Given the description of an element on the screen output the (x, y) to click on. 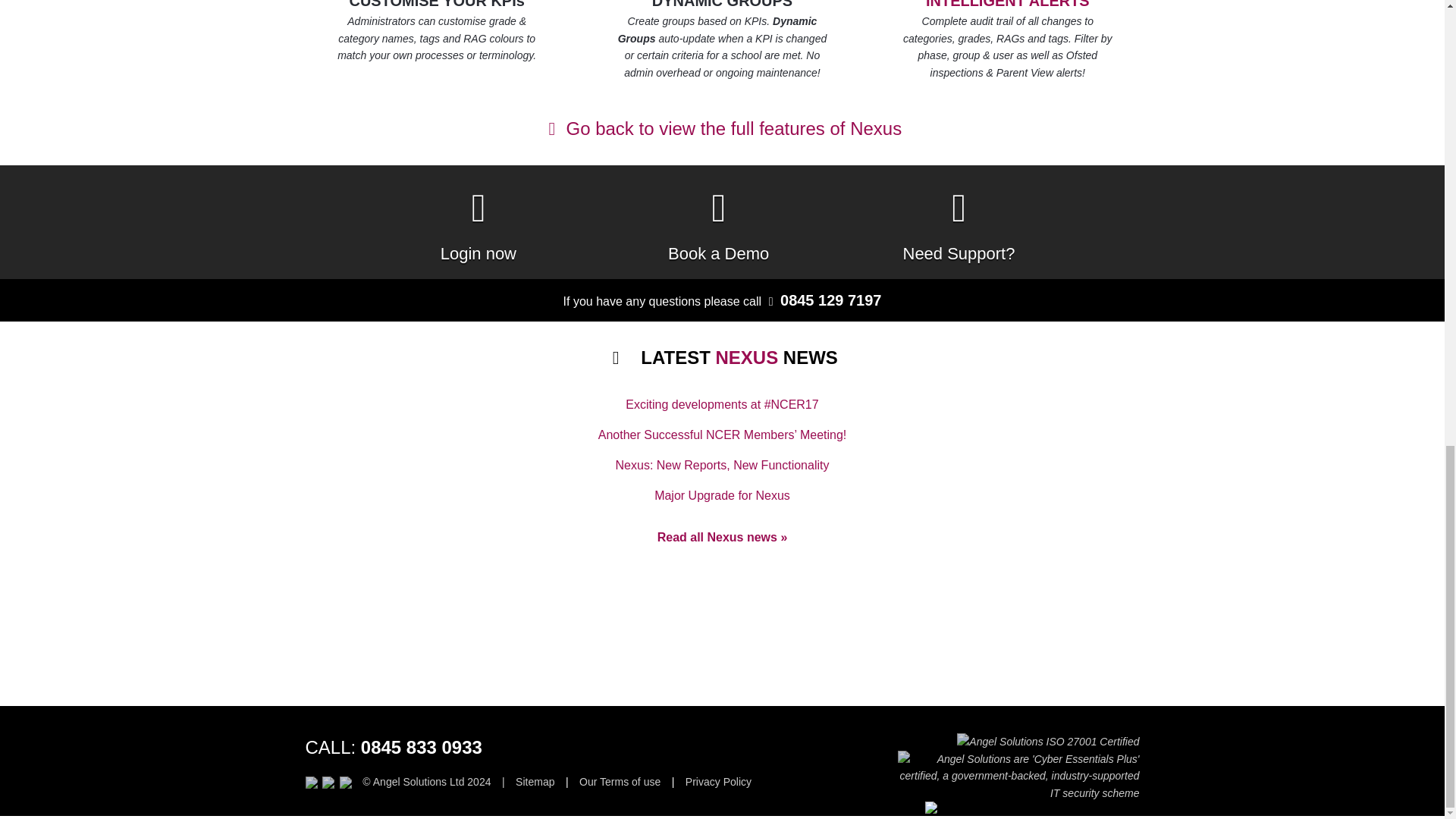
Our Terms of use (620, 782)
Nexus: New Reports, New Functionality (722, 465)
Privacy Policy (718, 782)
Major Upgrade for Nexus (721, 496)
Go back to view the full features of Nexus (722, 129)
INTELLIGENT ALERTS (1007, 6)
Sitemap (534, 782)
Need Support? (958, 221)
Book a Demo (718, 221)
Read all Nexus news (722, 537)
